Given the description of an element on the screen output the (x, y) to click on. 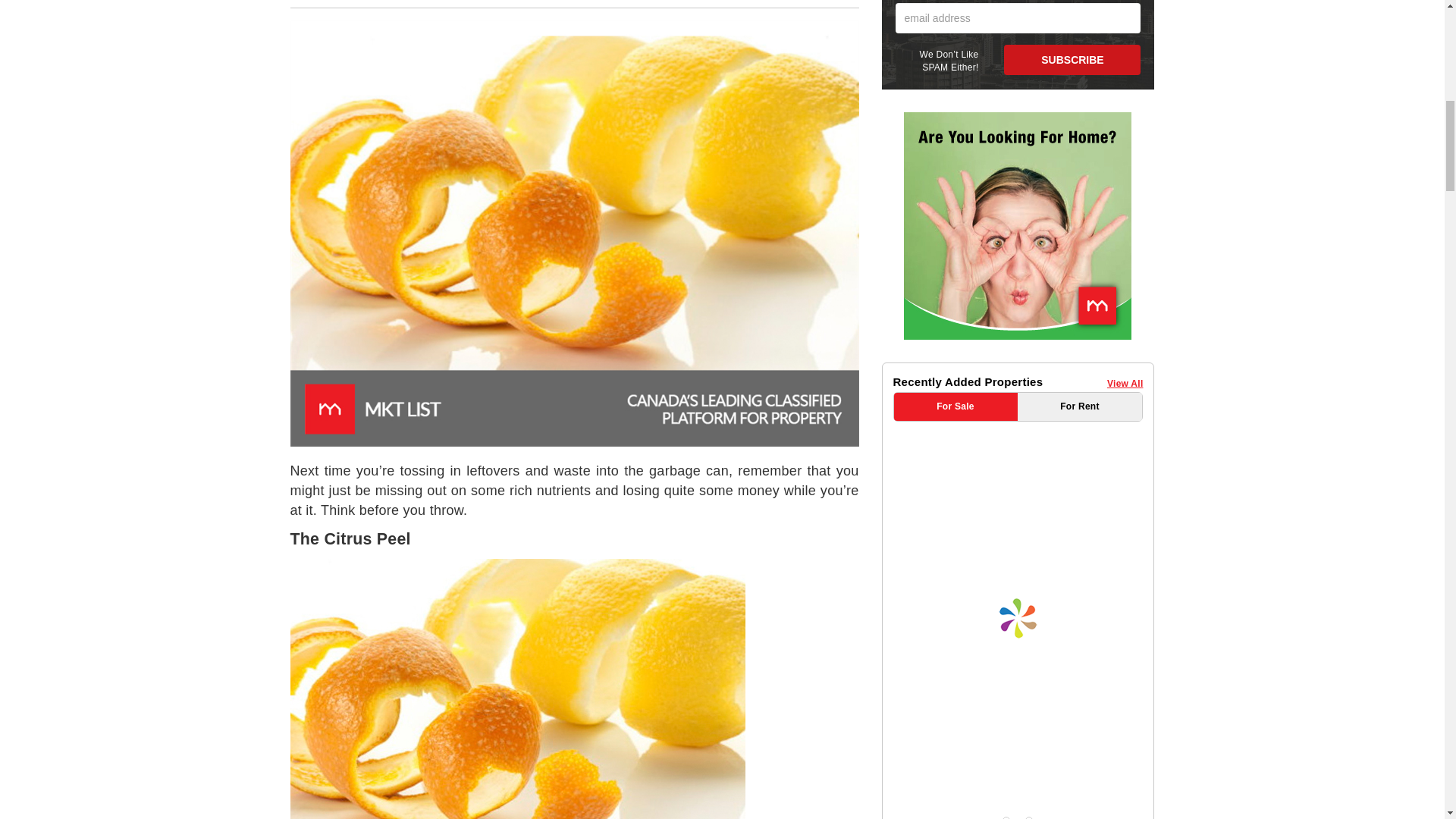
150 Tuscany Run, Brunello Estates, Ca (1026, 570)
SUBSCRIBE (1072, 60)
113 Puffycup Drive, Masons Beach, Ca (1026, 443)
6178 Sheba Dr Drive Ra40 - Rural Ramara, Ramara, Ca (1027, 507)
950 Cape John Road, River John, Ca (1027, 633)
2413 52 Avenue Sw North Glenmore Park, Calgary, Ca (1028, 696)
